Given the description of an element on the screen output the (x, y) to click on. 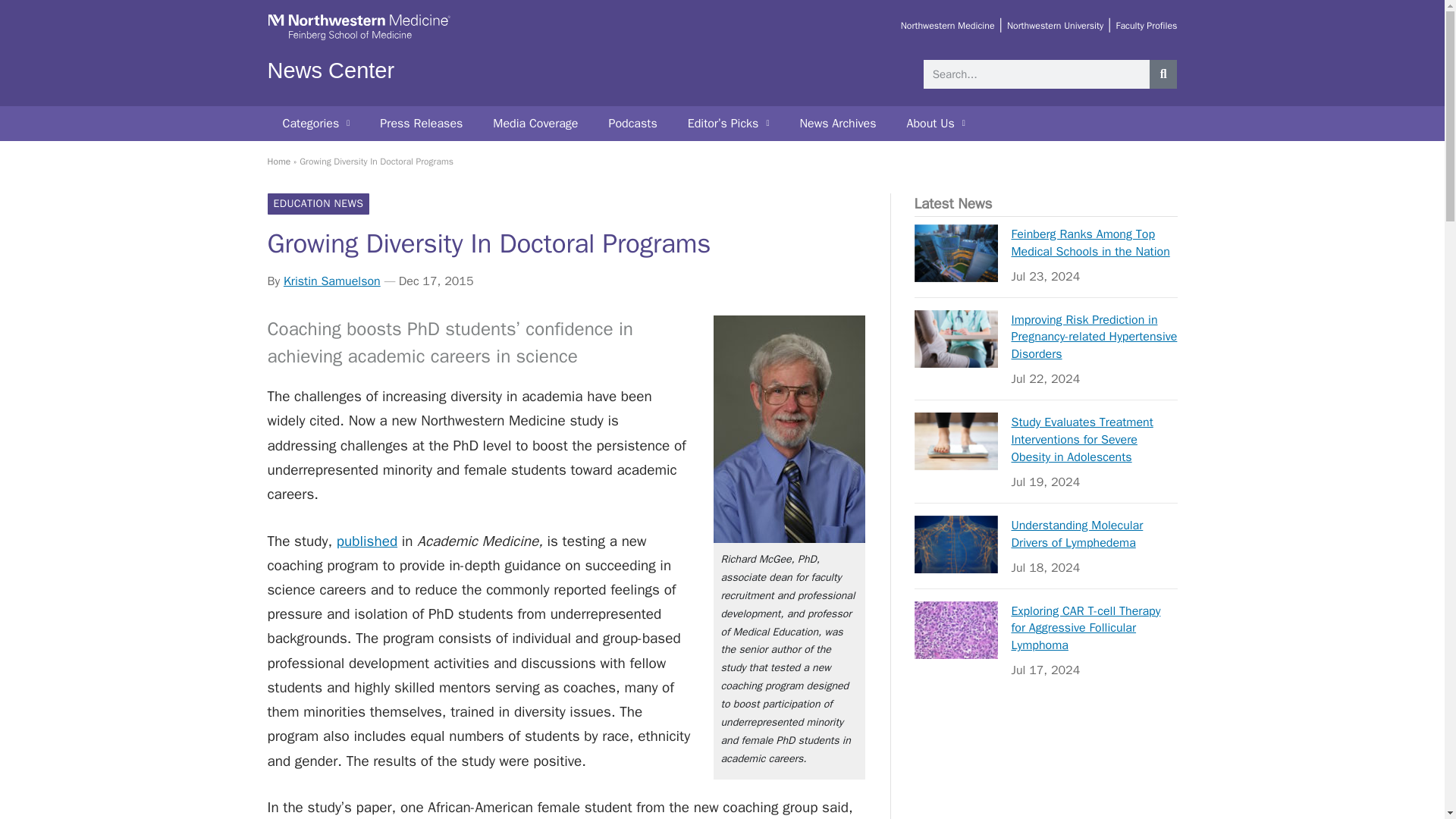
Feinberg (357, 38)
Understanding Molecular Drivers of Lymphedema (955, 544)
About Us (935, 123)
Categories (315, 123)
Faculty Profiles (1145, 25)
Northwestern University (1055, 25)
Press Releases (421, 123)
Northwestern Medicine (947, 25)
Podcasts (631, 123)
Feinberg Ranks Among Top Medical Schools in the Nation (955, 252)
News Archives (837, 123)
Media Coverage (534, 123)
